Given the description of an element on the screen output the (x, y) to click on. 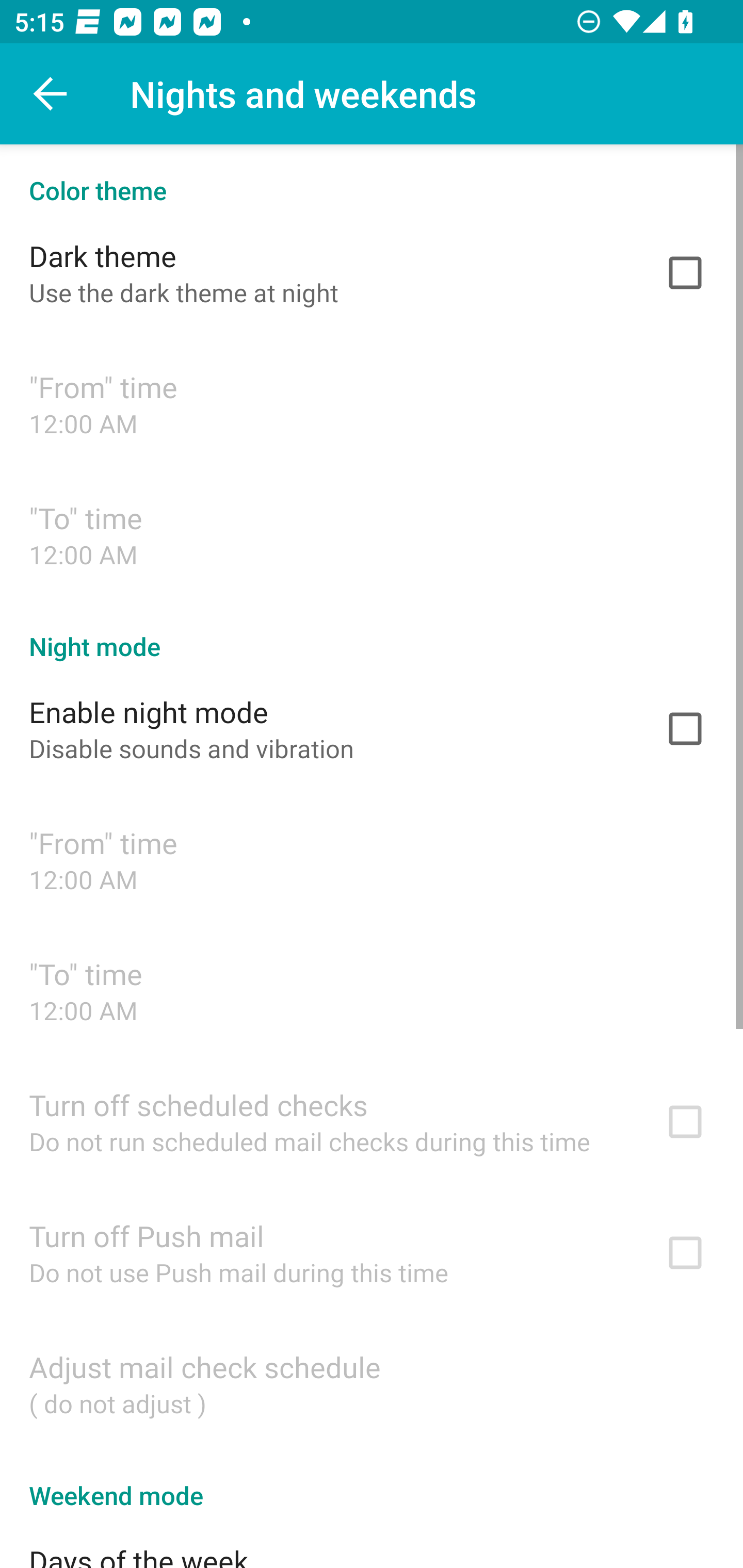
Navigate up (50, 93)
Dark theme Use the dark theme at night (371, 272)
"From" time 12:00 AM (371, 403)
"To" time 12:00 AM (371, 534)
Enable night mode Disable sounds and vibration (371, 728)
"From" time 12:00 AM (371, 859)
"To" time 12:00 AM (371, 990)
Adjust mail check schedule ( do not adjust ) (371, 1383)
